Given the description of an element on the screen output the (x, y) to click on. 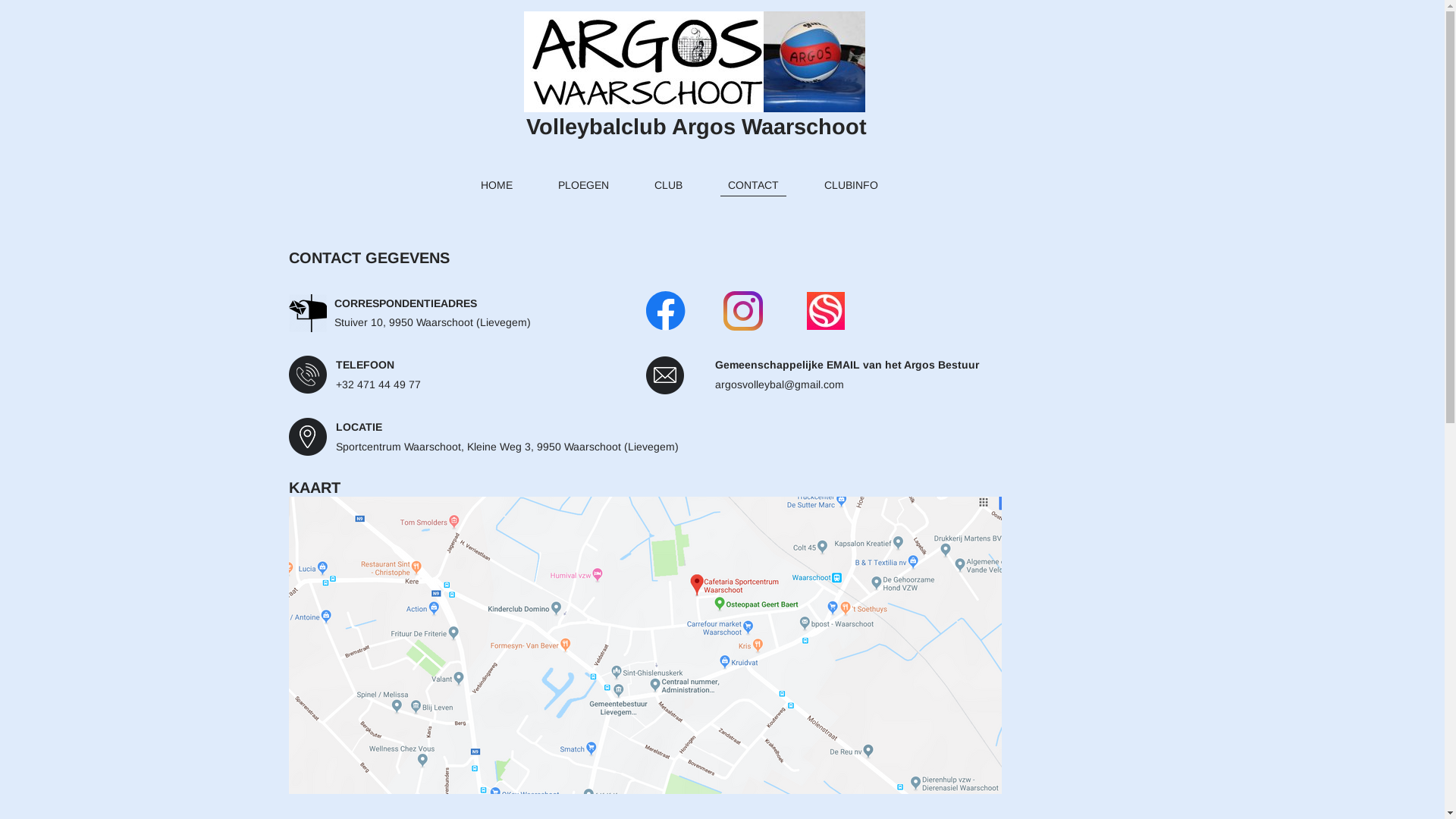
PLOEGEN Element type: text (583, 184)
argosvolleybal@gmail.com Element type: text (778, 384)
HOME Element type: text (496, 184)
CLUB Element type: text (667, 184)
CLUBINFO Element type: text (849, 184)
CONTACT Element type: text (753, 184)
